Given the description of an element on the screen output the (x, y) to click on. 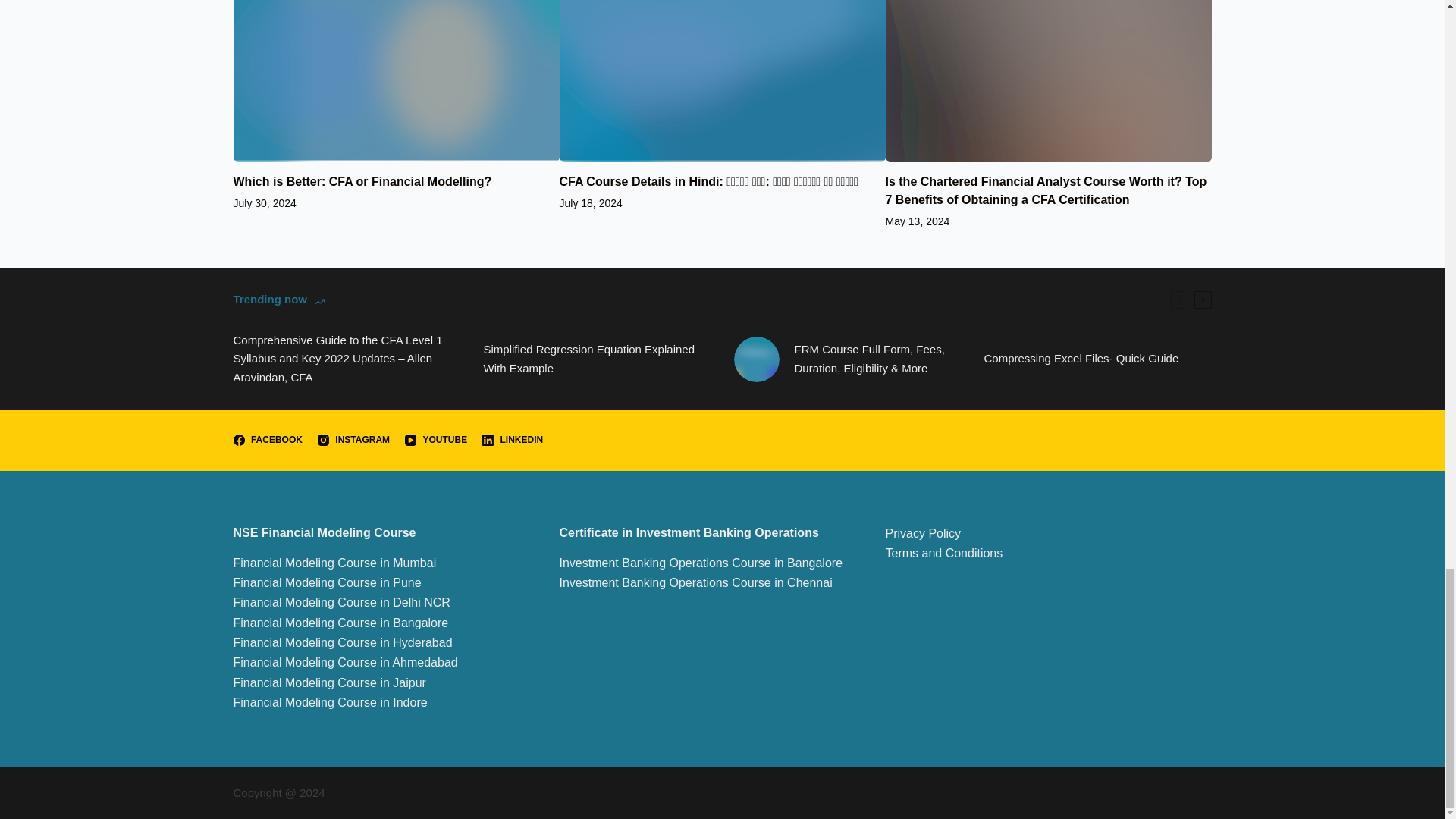
Compressing Excel Files- Quick Guide (1081, 358)
Which is Better: CFA or Financial Modelling? (362, 181)
Simplified Regression Equation Explained With Example (597, 359)
